Given the description of an element on the screen output the (x, y) to click on. 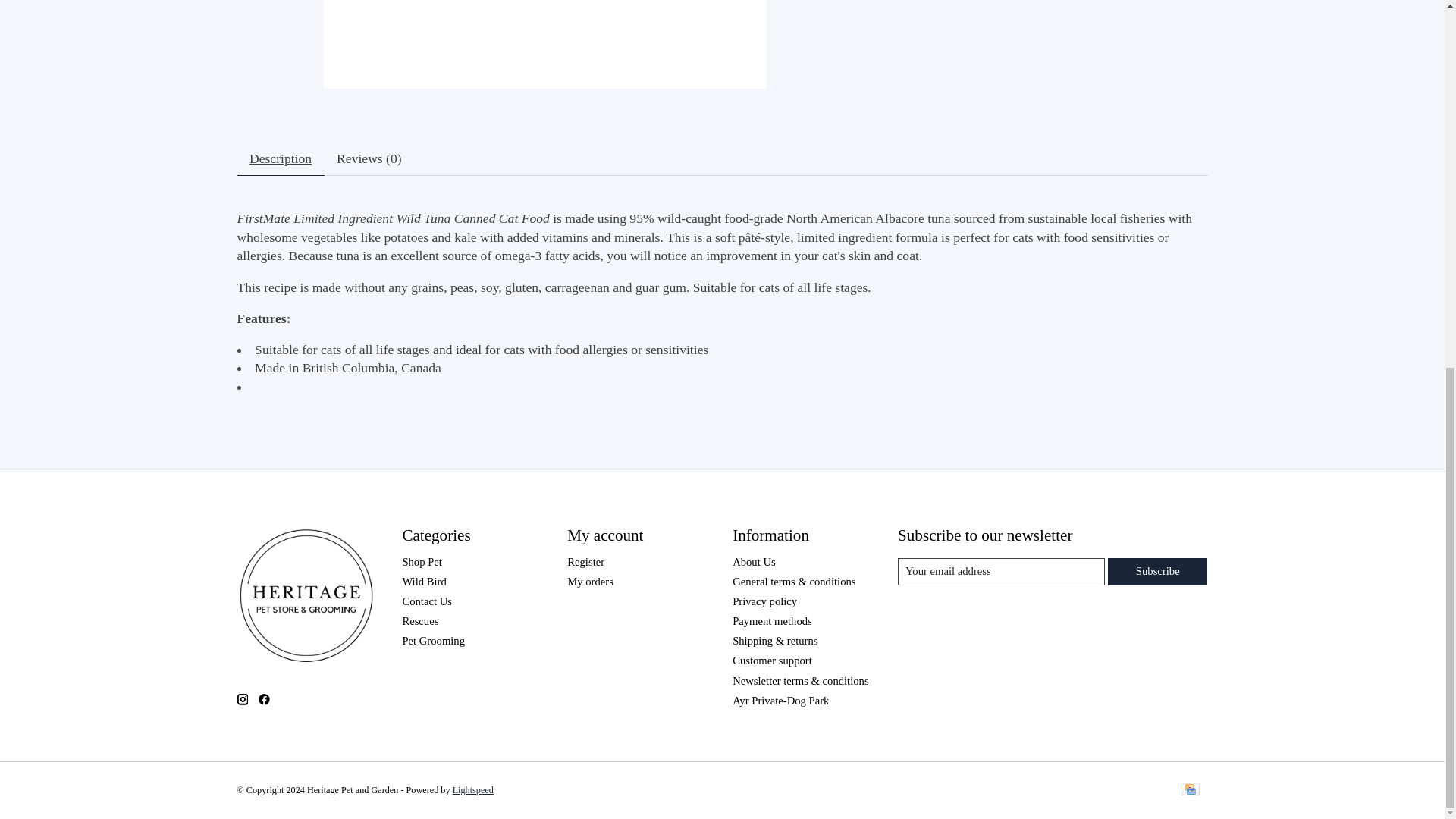
About Us (754, 562)
Credit Card (1188, 790)
Lightspeed (472, 789)
Payment methods (772, 621)
My orders (589, 581)
Ayr Private-Dog Park  (780, 700)
Register (585, 562)
Privacy policy (764, 601)
Customer support (772, 660)
